Given the description of an element on the screen output the (x, y) to click on. 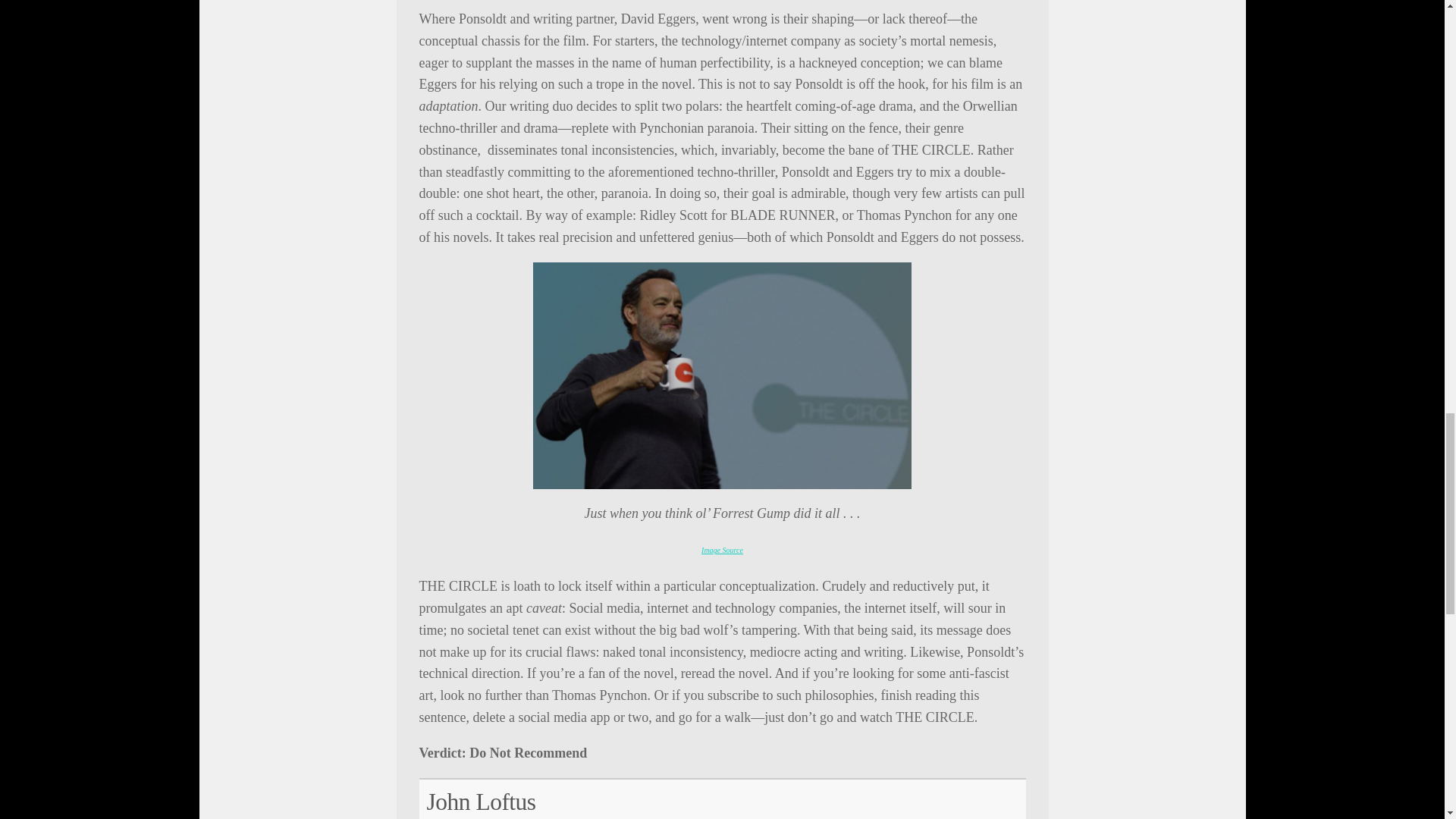
All posts by John Loftus (480, 801)
